Given the description of an element on the screen output the (x, y) to click on. 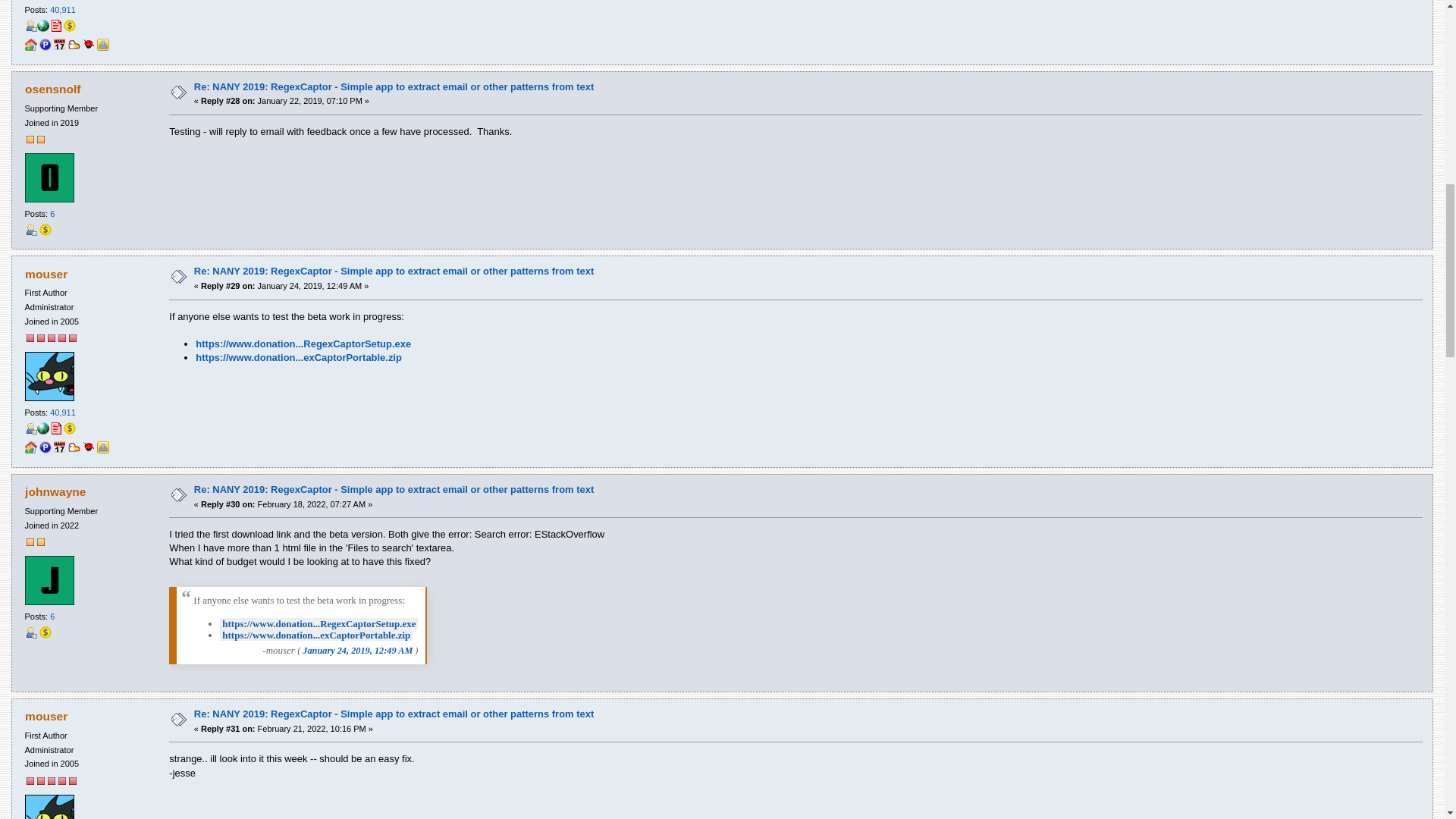
View Profile (30, 25)
